Given the description of an element on the screen output the (x, y) to click on. 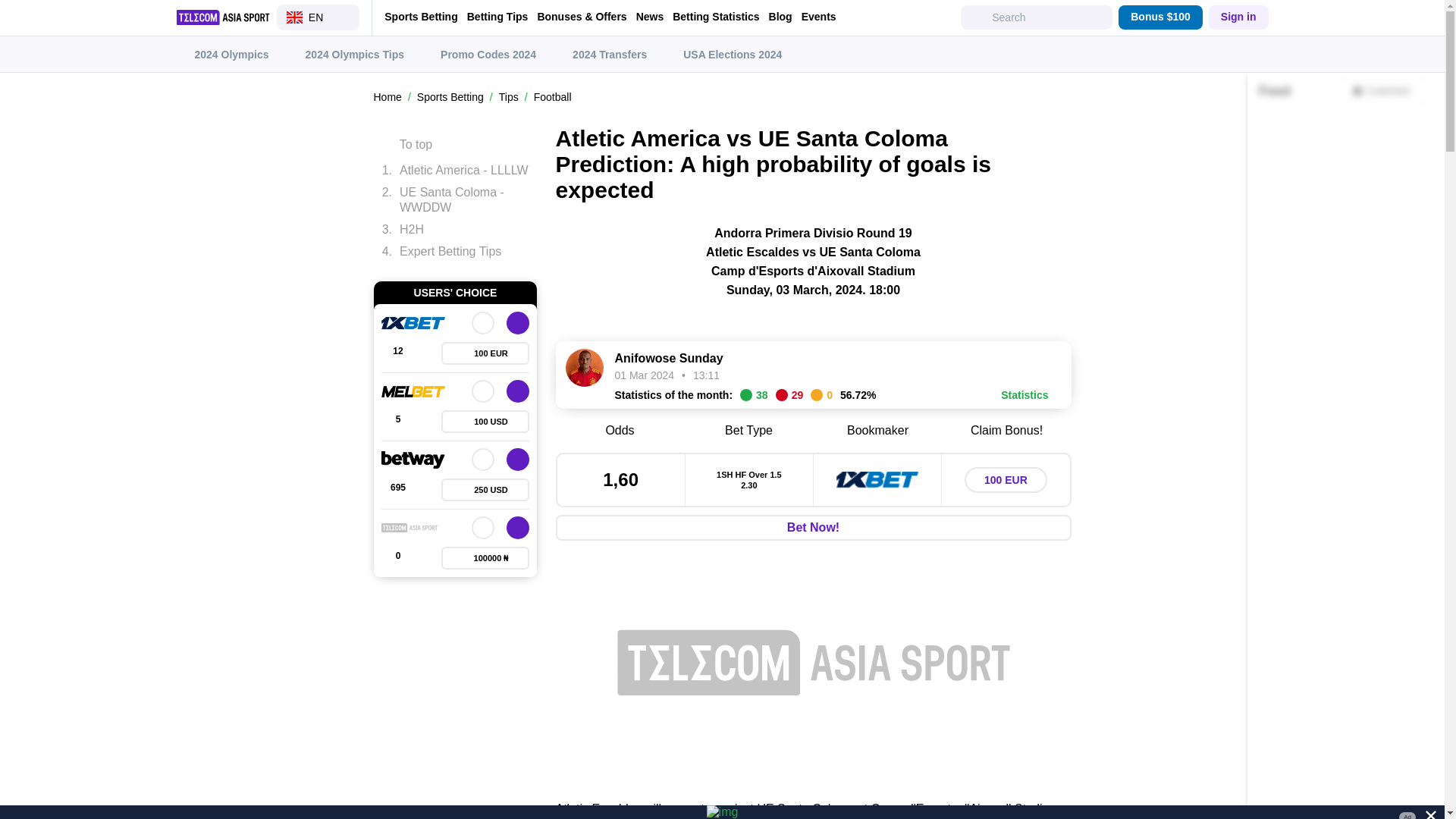
To the website (517, 323)
Reviews (396, 353)
Sports Betting (420, 16)
Bonuses (485, 558)
OVERVIEW (483, 527)
Bonuses (485, 421)
Reviews (396, 421)
To the website (517, 527)
Reviews (396, 558)
OVERVIEW (483, 391)
